Given the description of an element on the screen output the (x, y) to click on. 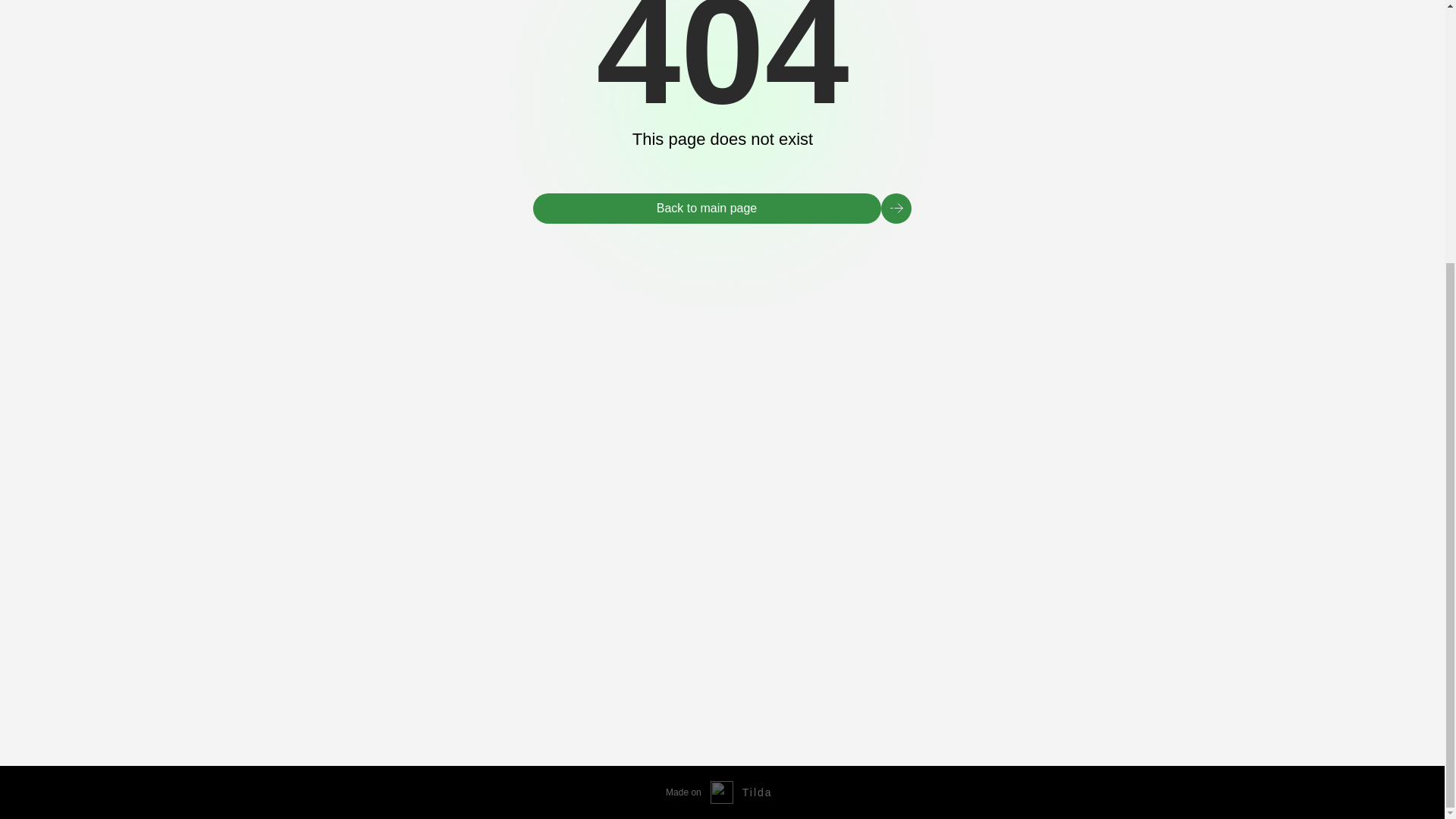
Home (888, 570)
Back to main page (706, 208)
About us (895, 616)
Terms and condition (919, 745)
Website (1143, 745)
Booking (894, 594)
FAQs (885, 661)
Cookies policy (740, 723)
Privacy policy (737, 745)
Affiliate (892, 639)
